Given the description of an element on the screen output the (x, y) to click on. 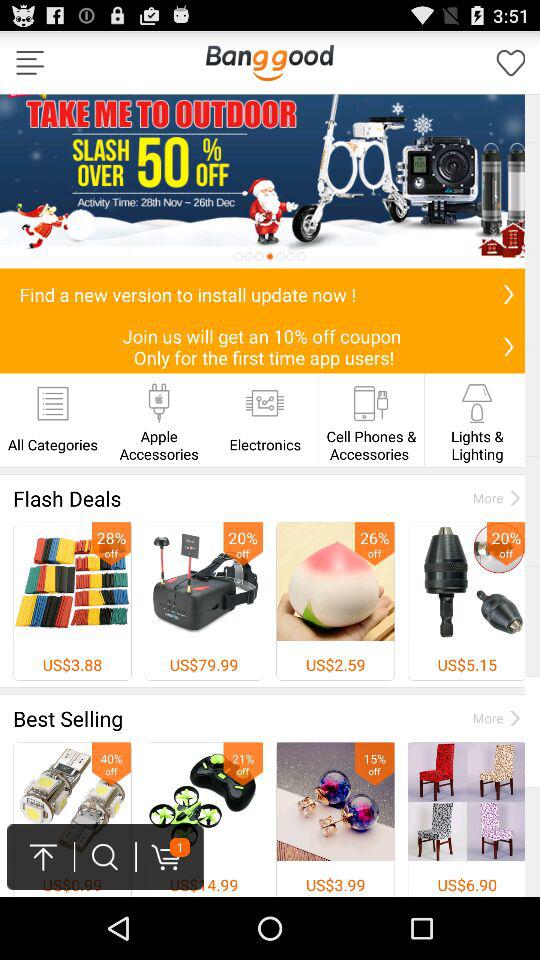
go to sales page (270, 181)
